Given the description of an element on the screen output the (x, y) to click on. 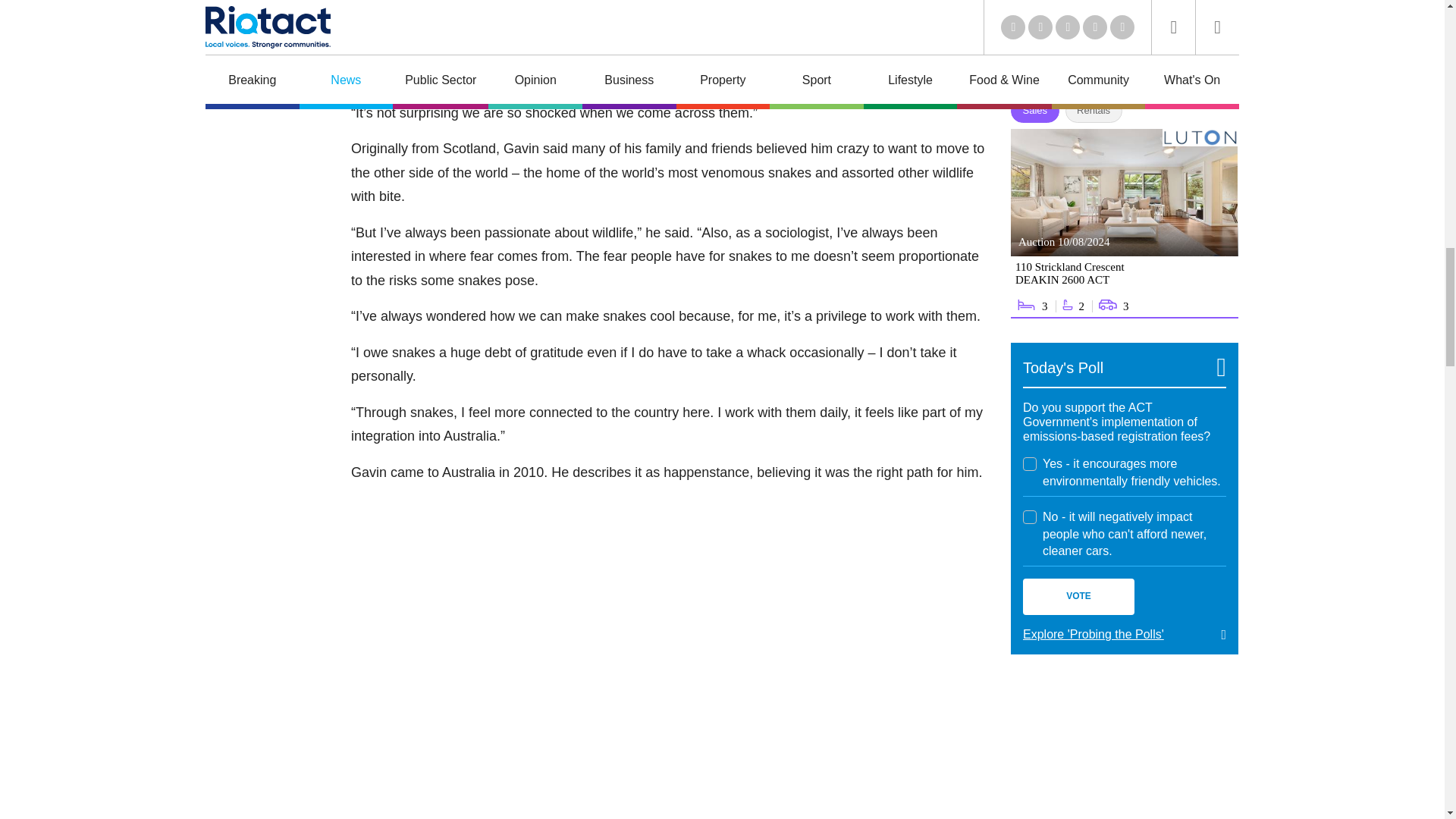
Zango (1209, 75)
2042 (1029, 517)
3rd party ad content (1124, 748)
   Vote    (1078, 596)
Zango Sales (1124, 223)
2041 (1029, 463)
